Given the description of an element on the screen output the (x, y) to click on. 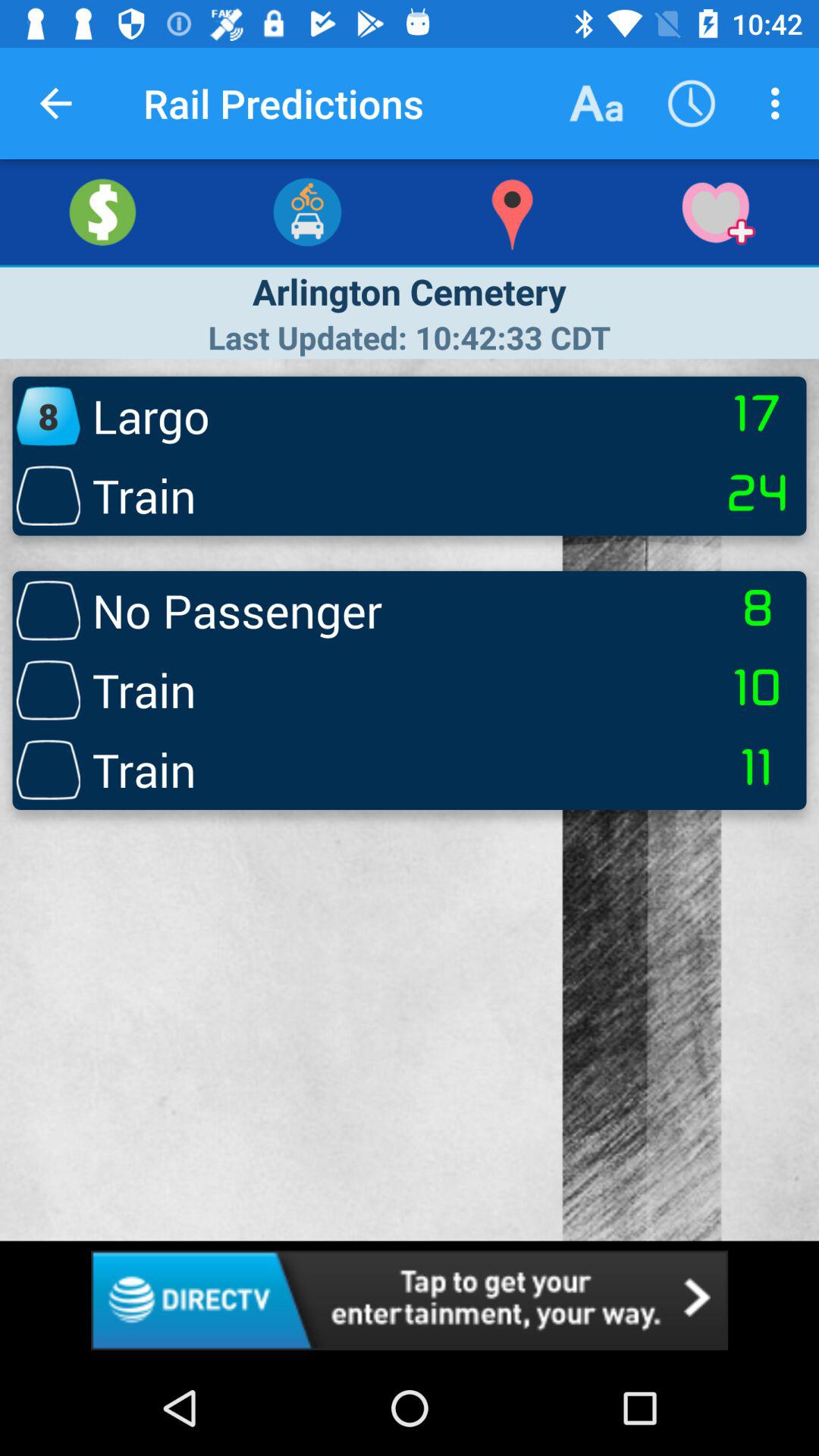
show cost (102, 212)
